Given the description of an element on the screen output the (x, y) to click on. 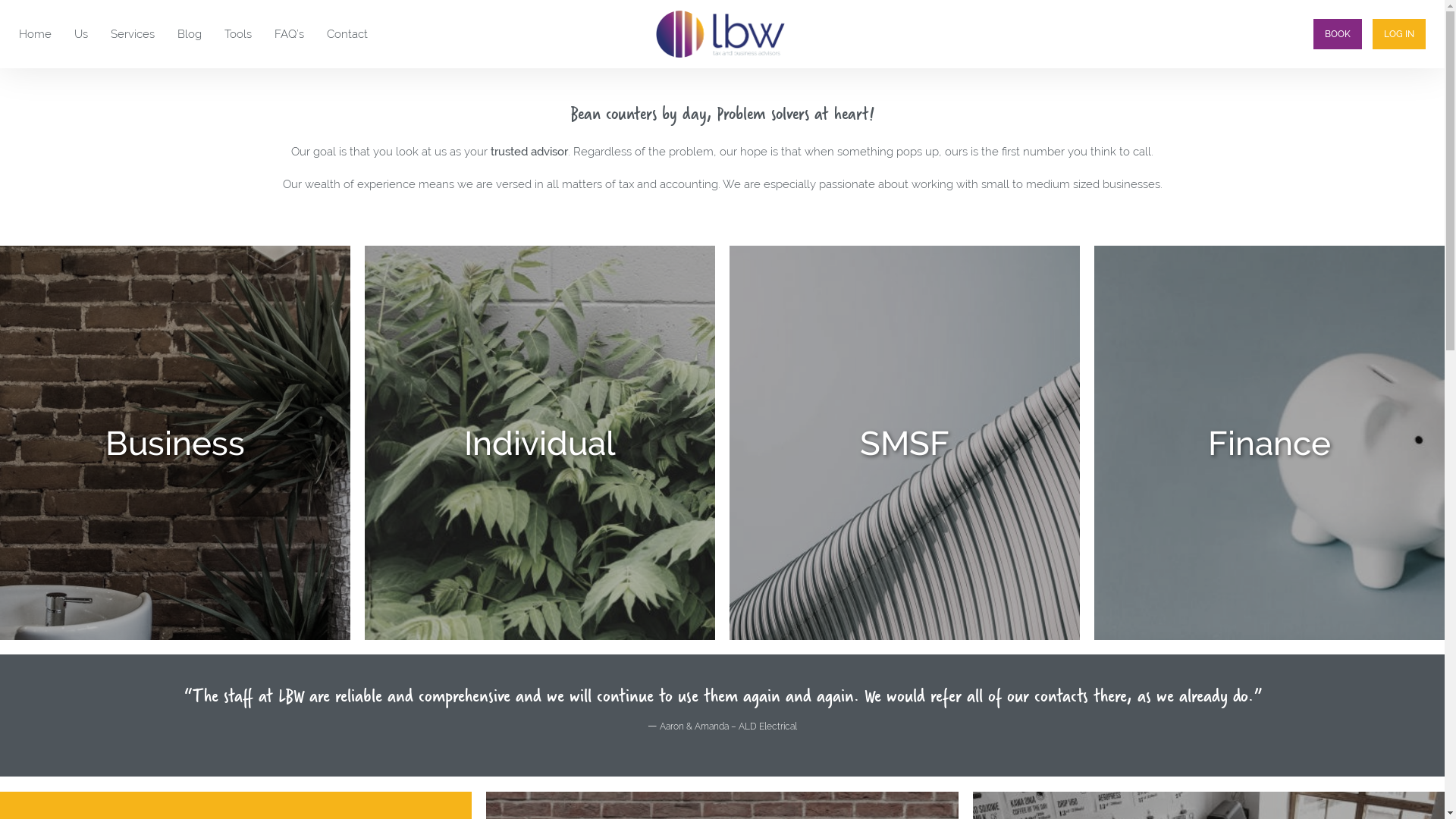
Tools Element type: text (238, 34)
SMSF Element type: text (904, 442)
Business Element type: text (175, 442)
Us Element type: text (80, 34)
Services Element type: text (132, 34)
Finance Element type: text (1269, 442)
BOOK Element type: text (1337, 33)
Home Element type: text (34, 34)
LOG IN Element type: text (1398, 33)
Individual Element type: text (539, 442)
Contact Element type: text (347, 34)
Blog Element type: text (189, 34)
